Given the description of an element on the screen output the (x, y) to click on. 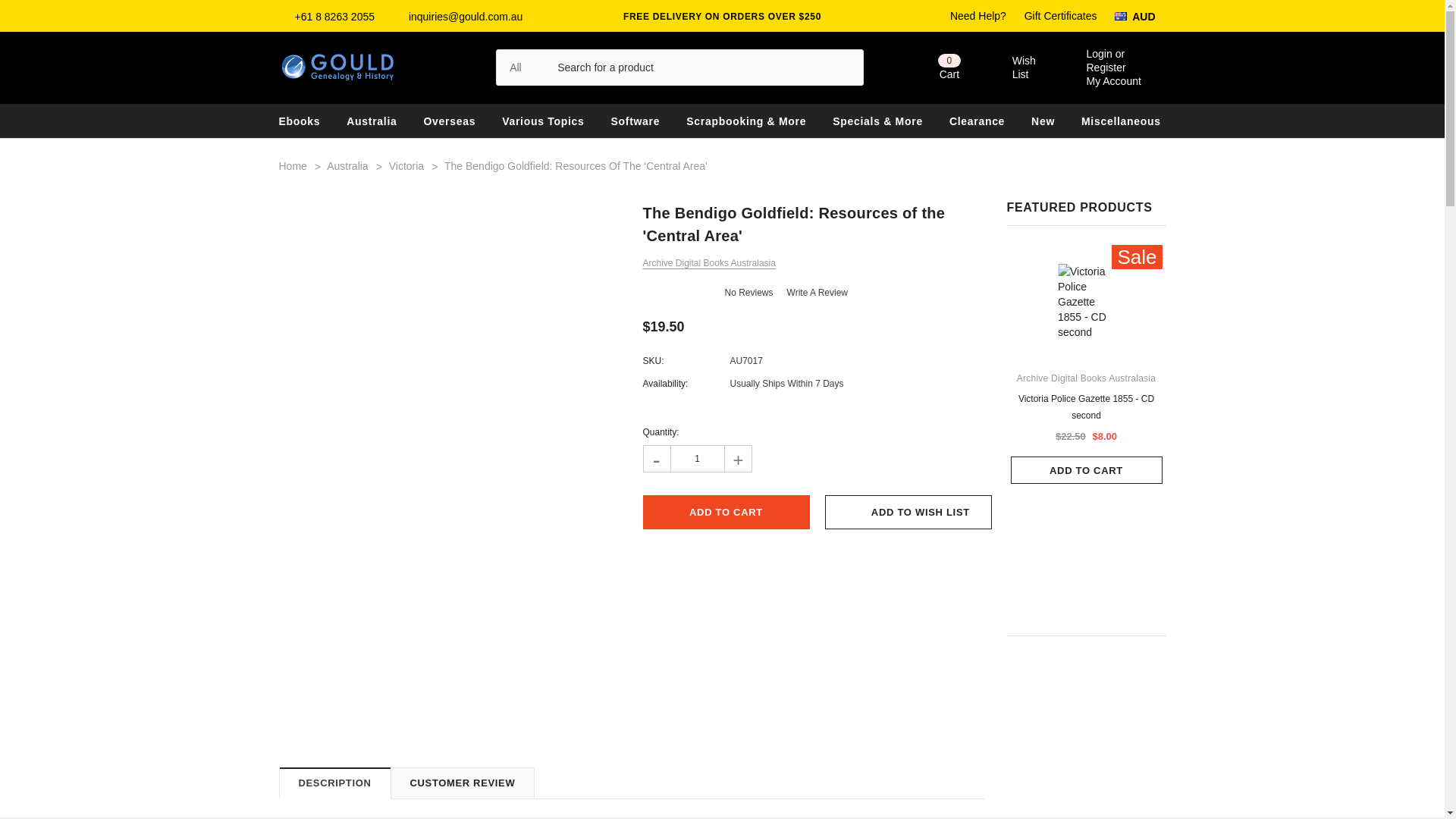
Ebooks (299, 121)
Login (1099, 53)
My Account (1113, 80)
AUD (1140, 16)
Need Help? (978, 15)
Wish List (934, 67)
Gift Certificates (1008, 67)
Register (1061, 15)
Add to Cart (1105, 67)
1 (726, 512)
